Given the description of an element on the screen output the (x, y) to click on. 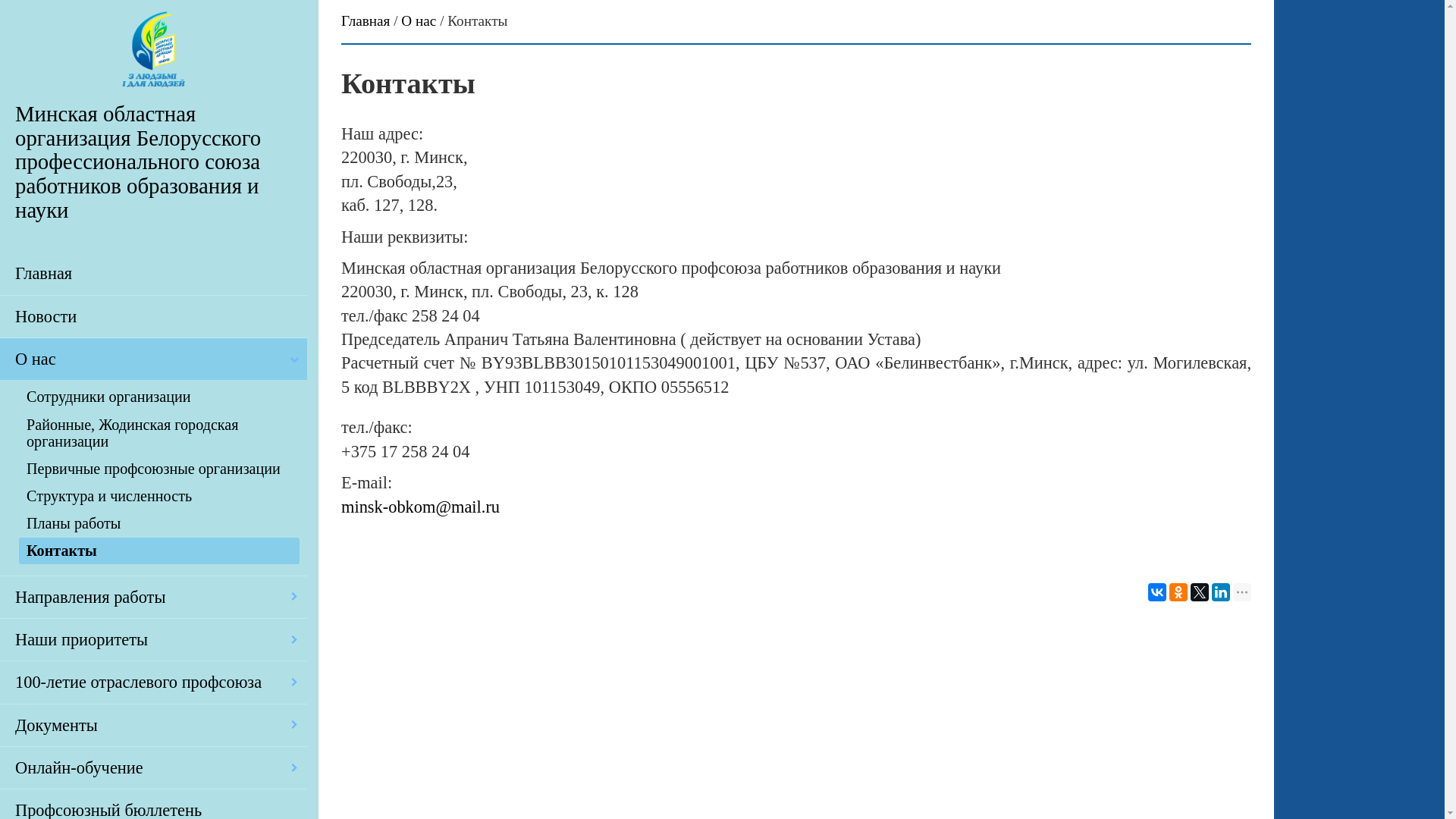
minsk-obkom@mail.ru Element type: text (420, 506)
LinkedIn Element type: hover (1220, 592)
Twitter Element type: hover (1199, 592)
